Given the description of an element on the screen output the (x, y) to click on. 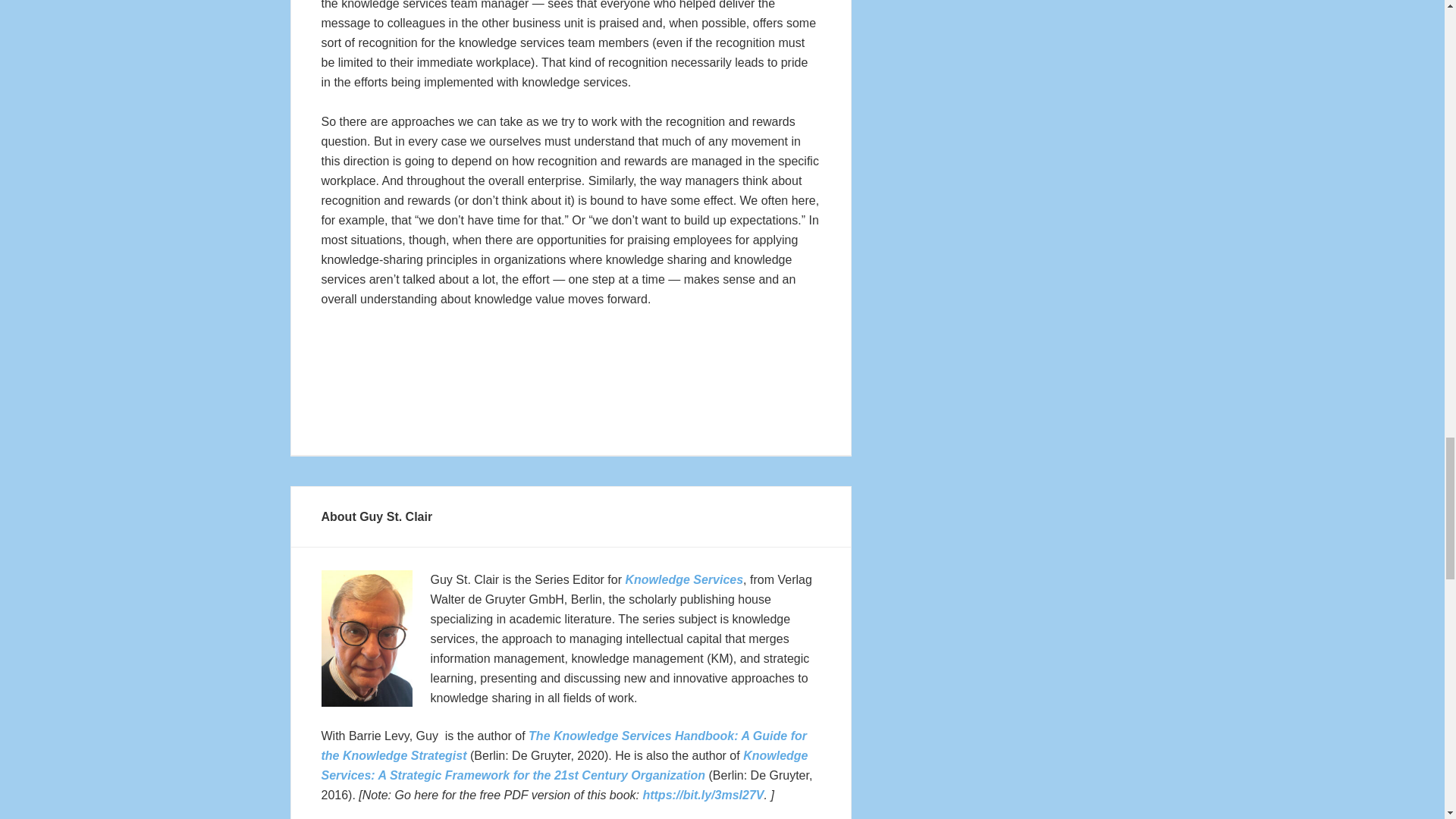
Knowledge Services (683, 579)
